Given the description of an element on the screen output the (x, y) to click on. 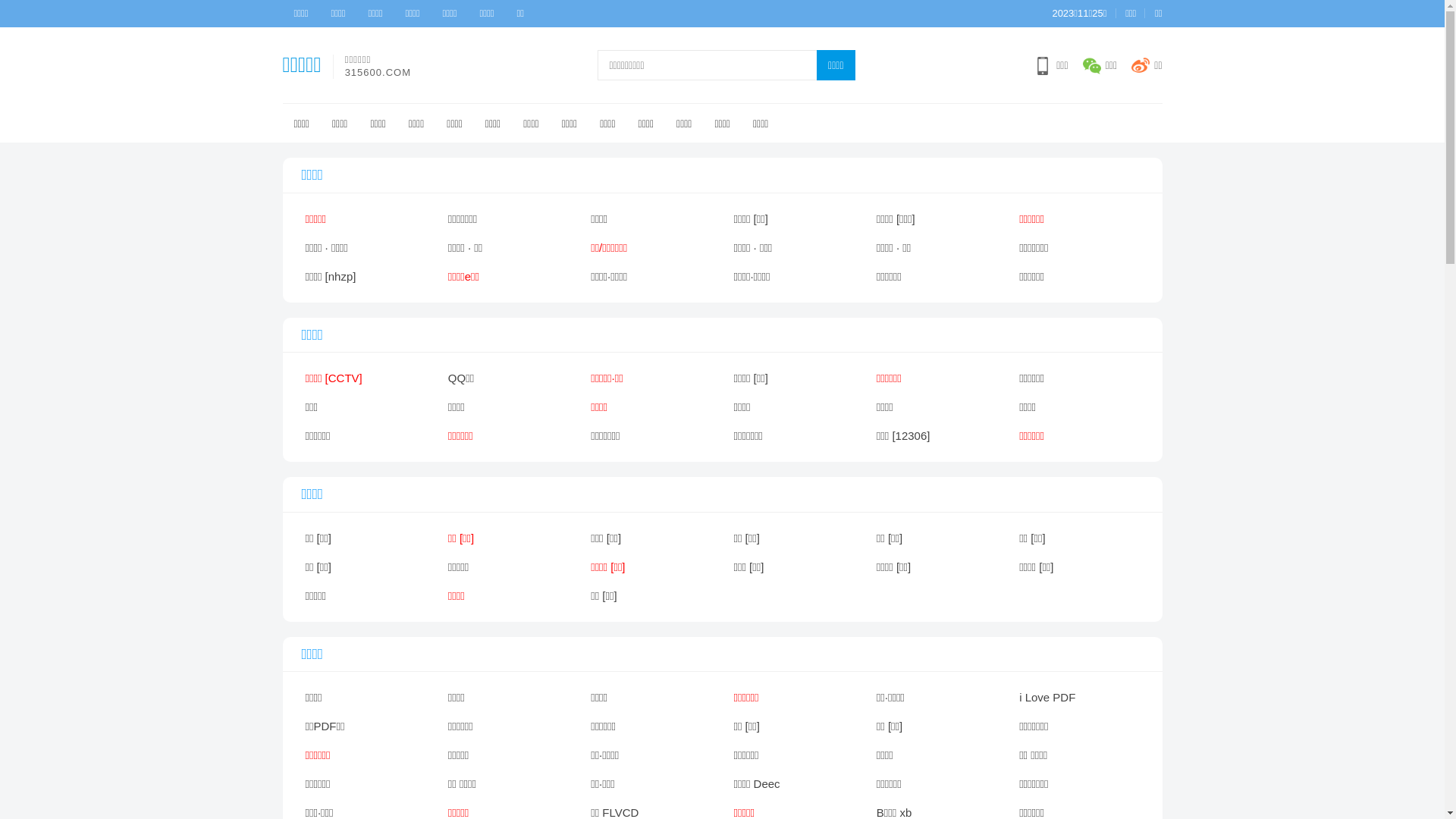
i Love PDF Element type: text (1078, 697)
